Given the description of an element on the screen output the (x, y) to click on. 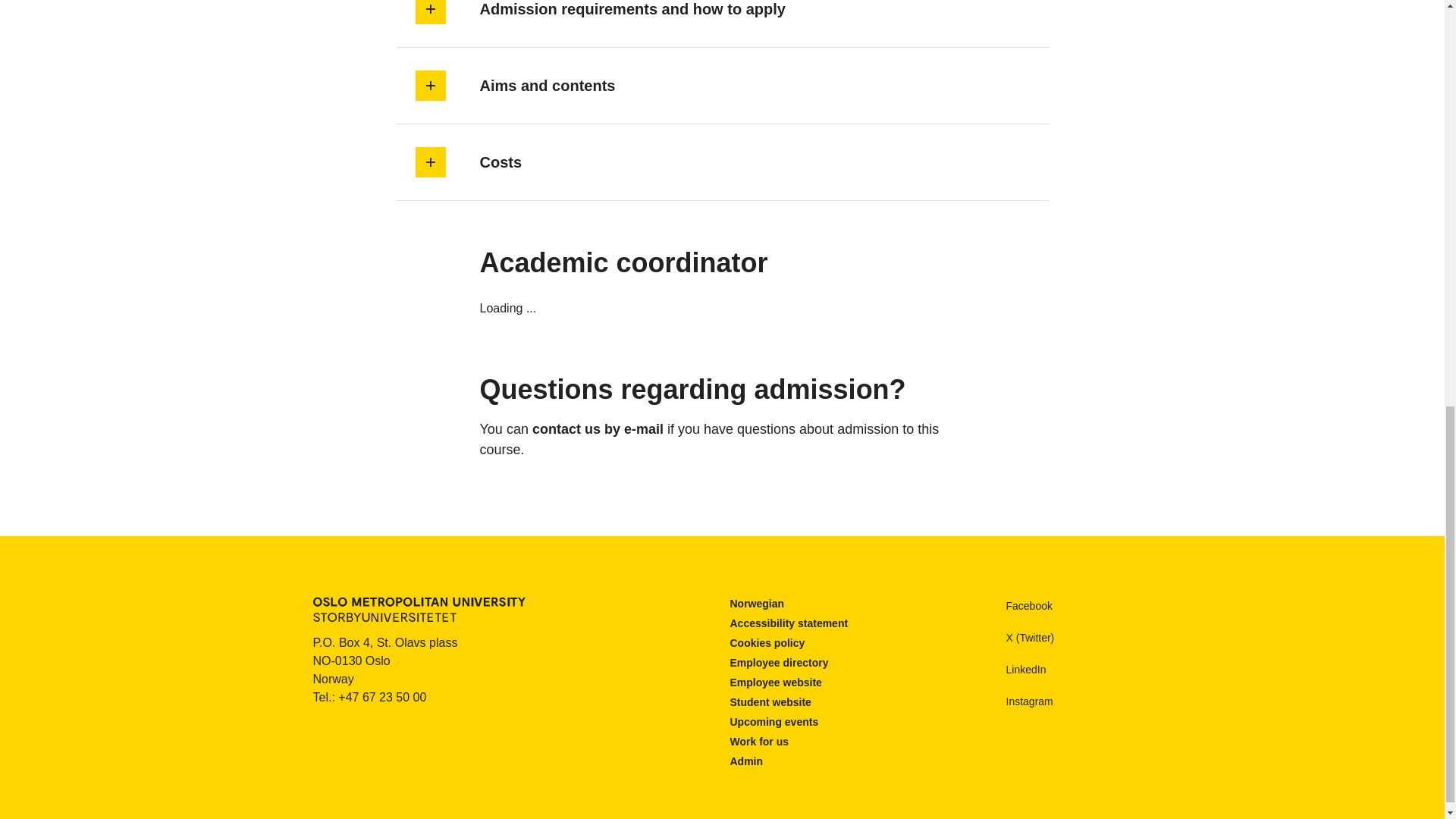
Facebook (1015, 606)
Employee directory (778, 662)
Upcoming events (773, 721)
Norwegian (756, 603)
Employee website (775, 682)
LinkedIn (1012, 669)
Work for us (759, 741)
Admin (745, 761)
Instagram (1015, 701)
contact us by e-mail (597, 429)
Accessibility statement (788, 623)
Student website (769, 702)
Cookies policy (767, 643)
